Given the description of an element on the screen output the (x, y) to click on. 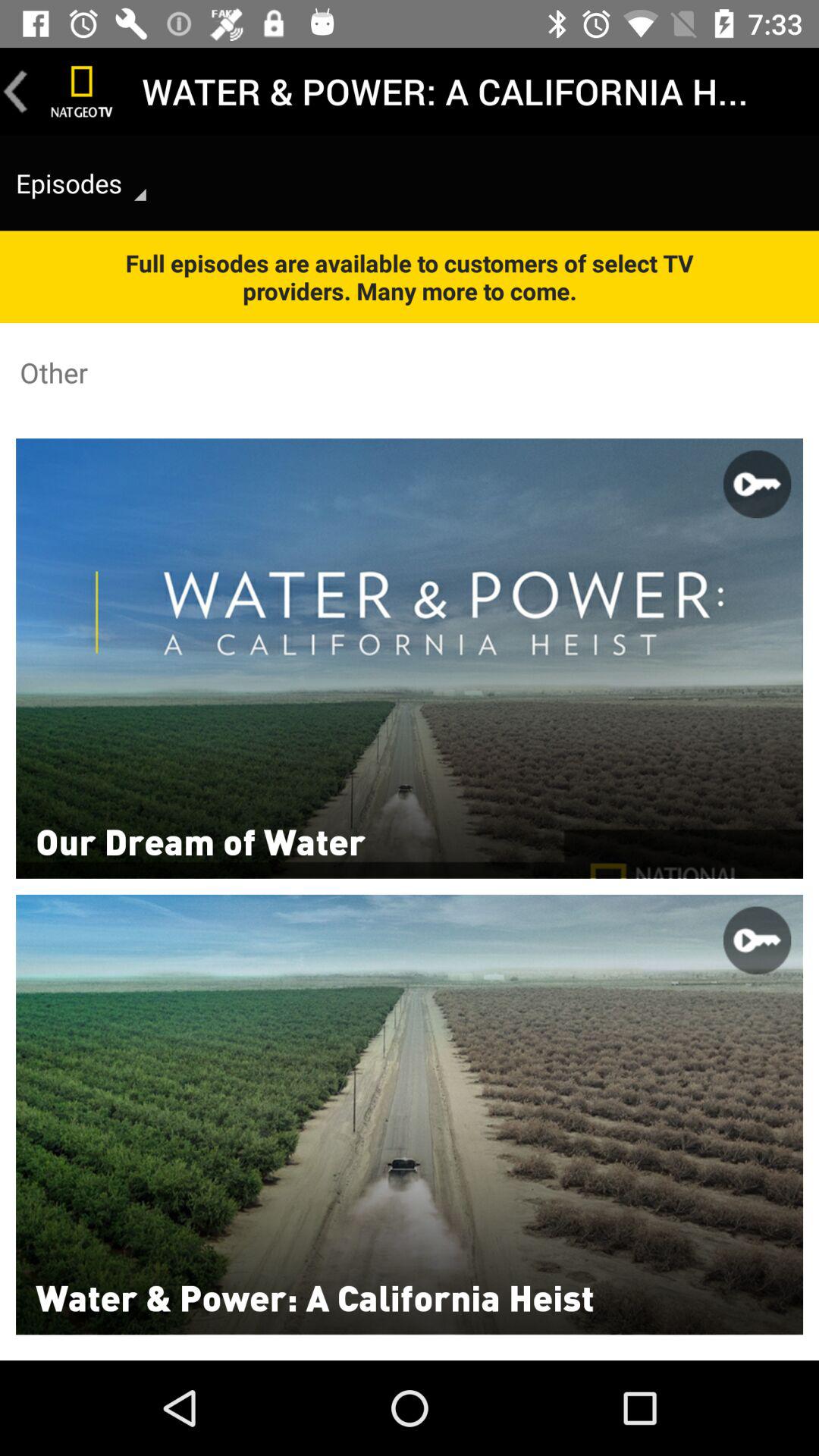
click the full episodes are icon (409, 276)
